Given the description of an element on the screen output the (x, y) to click on. 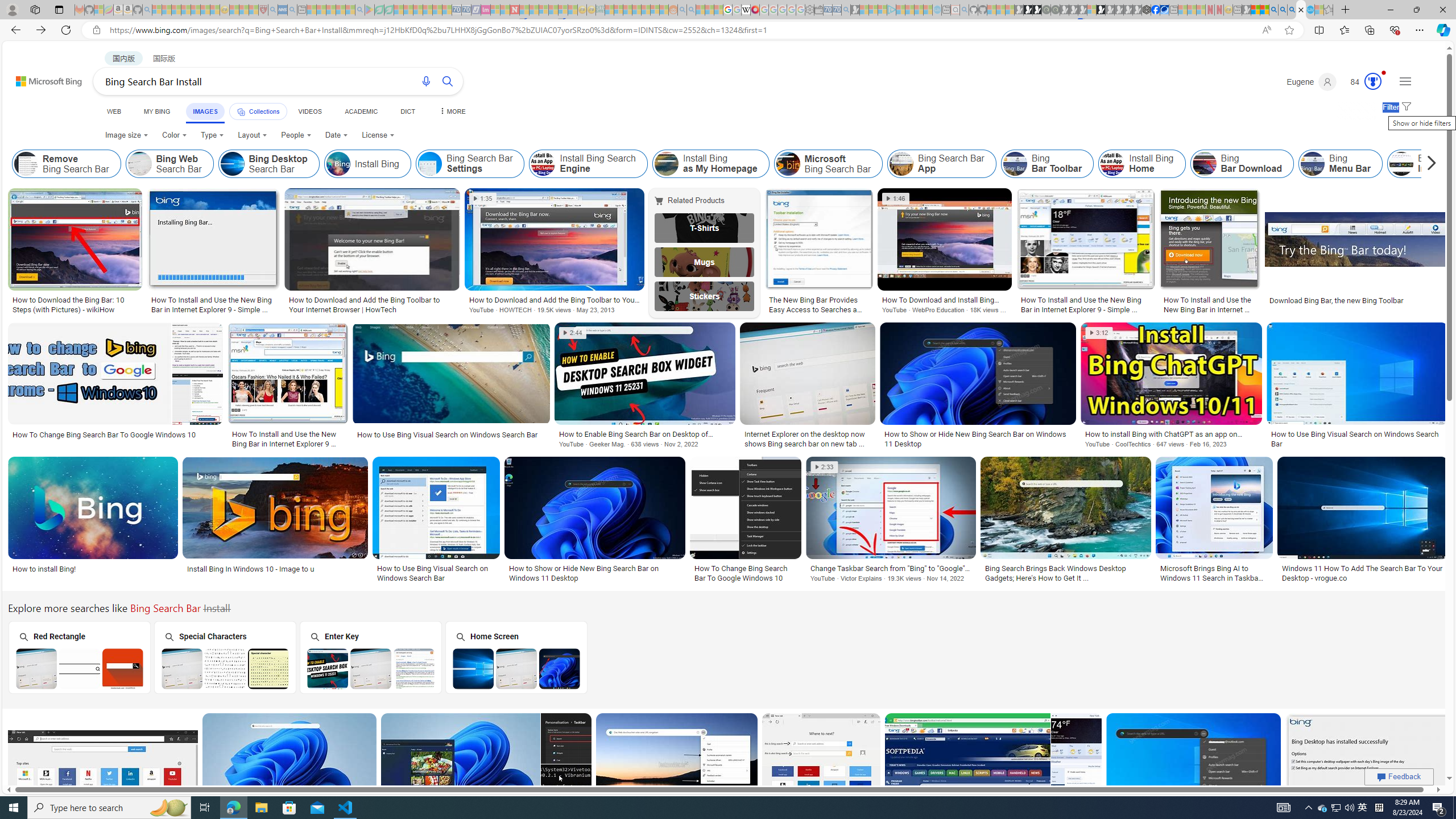
Bing Search Bar On Home Screen (515, 668)
ACADEMIC (360, 111)
How to Use Bing Visual Search on Windows Search Bar (436, 573)
Sign in to your account - Sleeping (1090, 9)
Install Bing In Windows 10 - Image to u (275, 568)
Stickers (704, 296)
MSN - Sleeping (1246, 9)
